Given the description of an element on the screen output the (x, y) to click on. 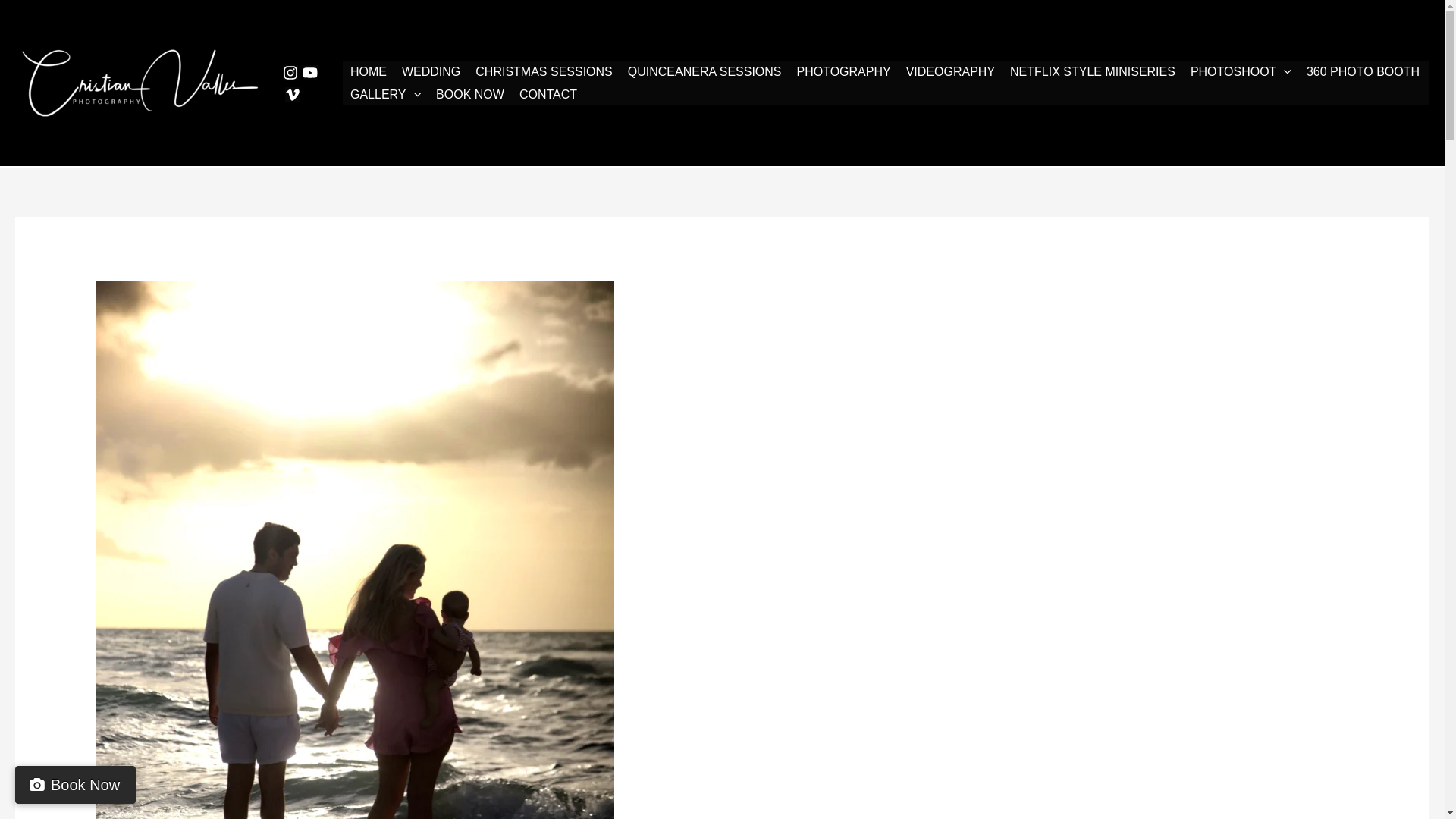
GALLERY (385, 94)
CHRISTMAS SESSIONS (543, 71)
VIDEOGRAPHY (950, 71)
PHOTOGRAPHY (843, 71)
HOME (368, 71)
WEDDING (430, 71)
CONTACT (548, 94)
NETFLIX STYLE MINISERIES (1092, 71)
PHOTOSHOOT (1240, 71)
360 PHOTO BOOTH (1362, 71)
BOOK NOW (470, 94)
QUINCEANERA SESSIONS (704, 71)
